Given the description of an element on the screen output the (x, y) to click on. 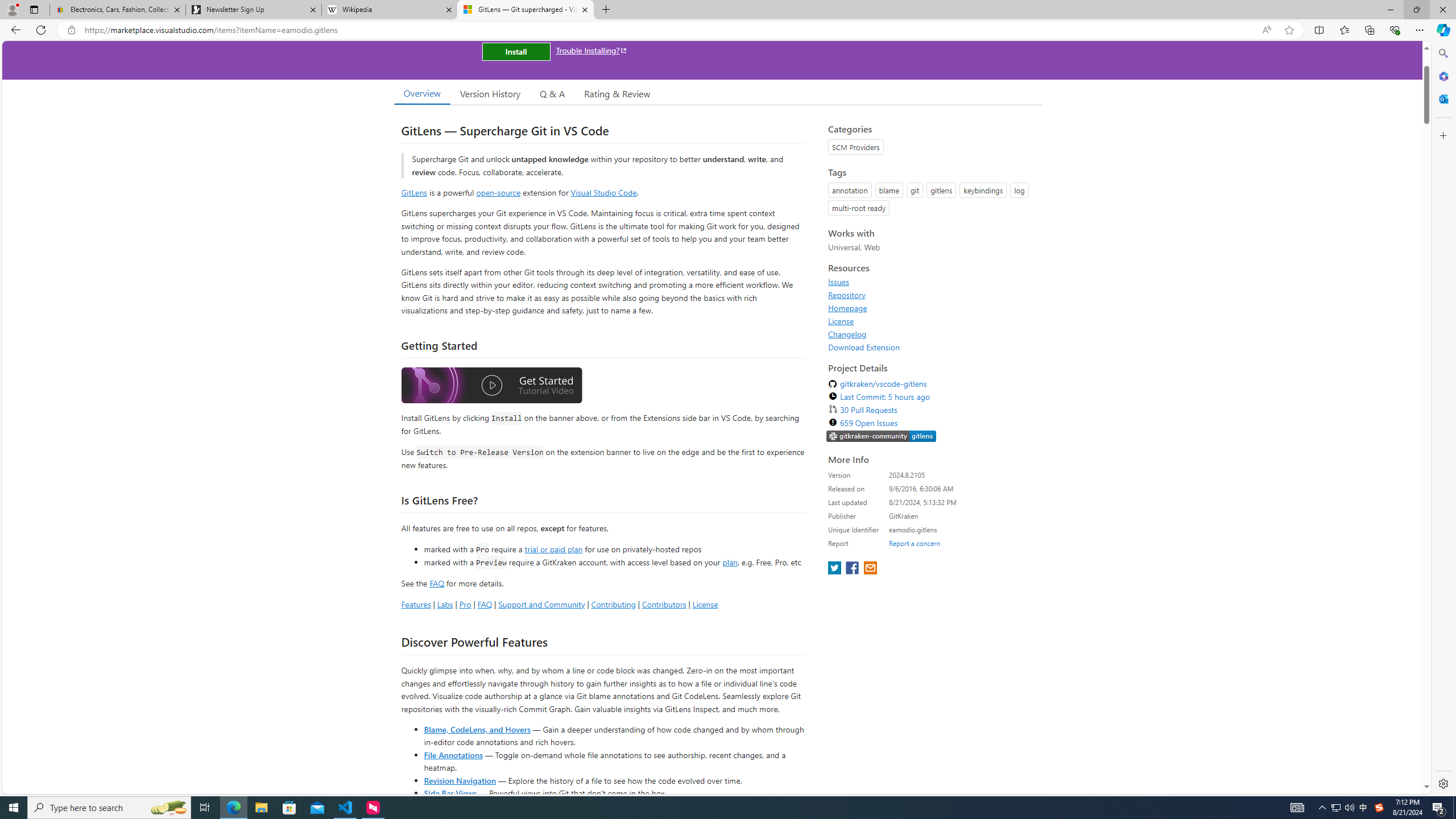
open-source (498, 192)
trial or paid plan (553, 548)
Newsletter Sign Up (253, 9)
FAQ (484, 603)
Labs (444, 603)
Watch the GitLens Getting Started video (491, 387)
